Given the description of an element on the screen output the (x, y) to click on. 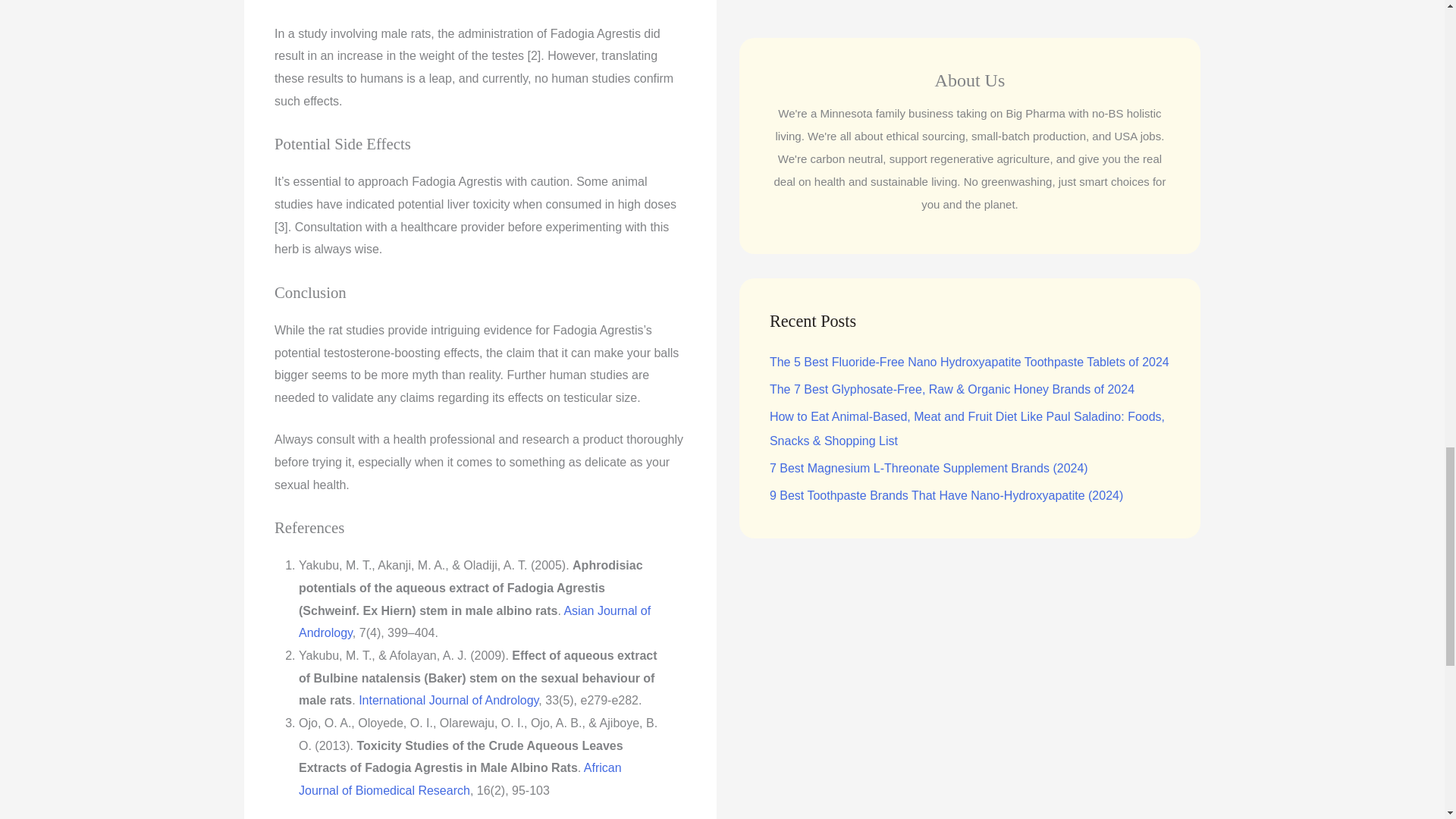
Asian Journal of Andrology (474, 621)
African Journal of Biomedical Research (459, 778)
International Journal of Andrology (448, 699)
